Given the description of an element on the screen output the (x, y) to click on. 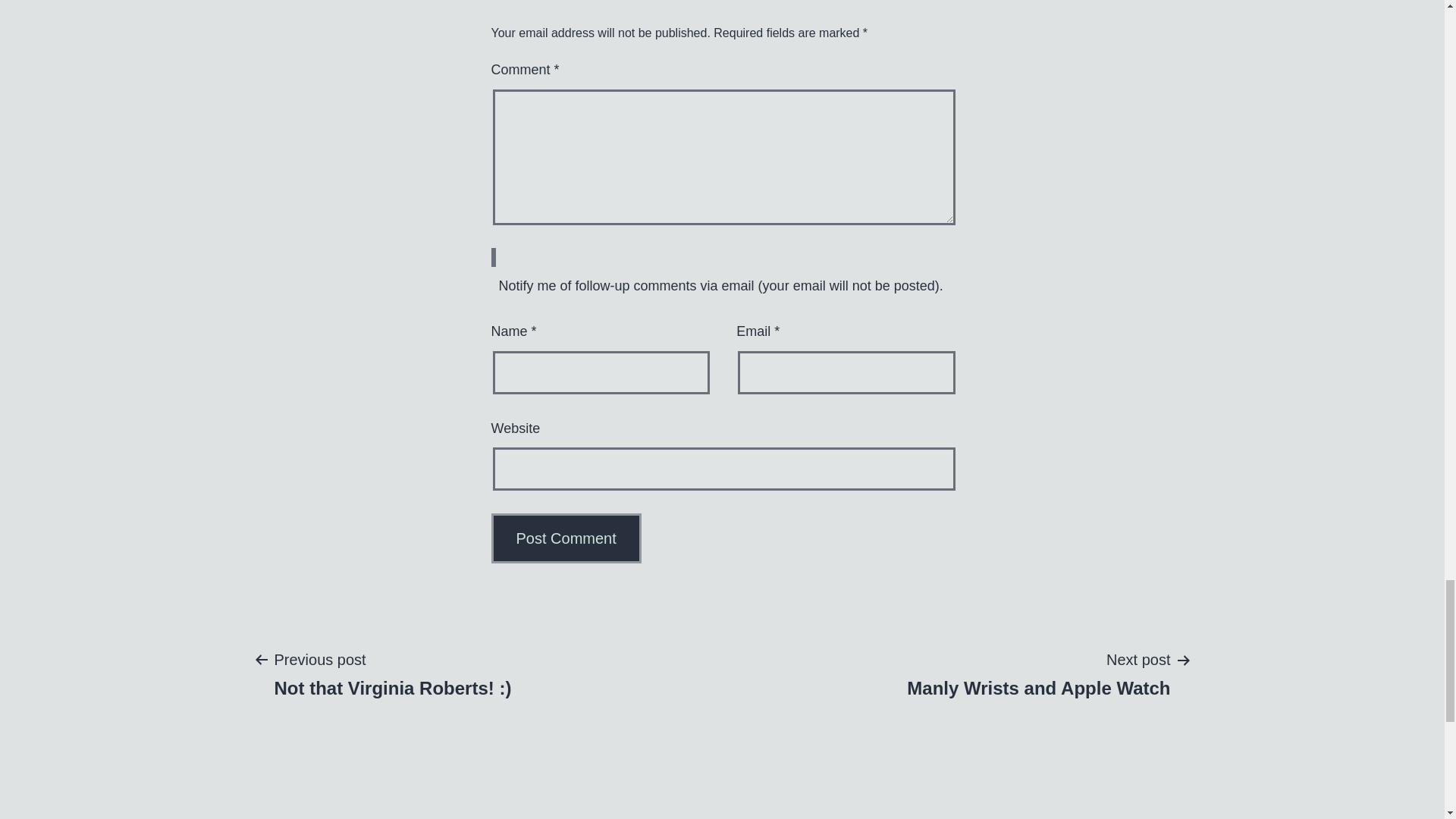
Post Comment (1038, 673)
Post Comment (567, 538)
